Given the description of an element on the screen output the (x, y) to click on. 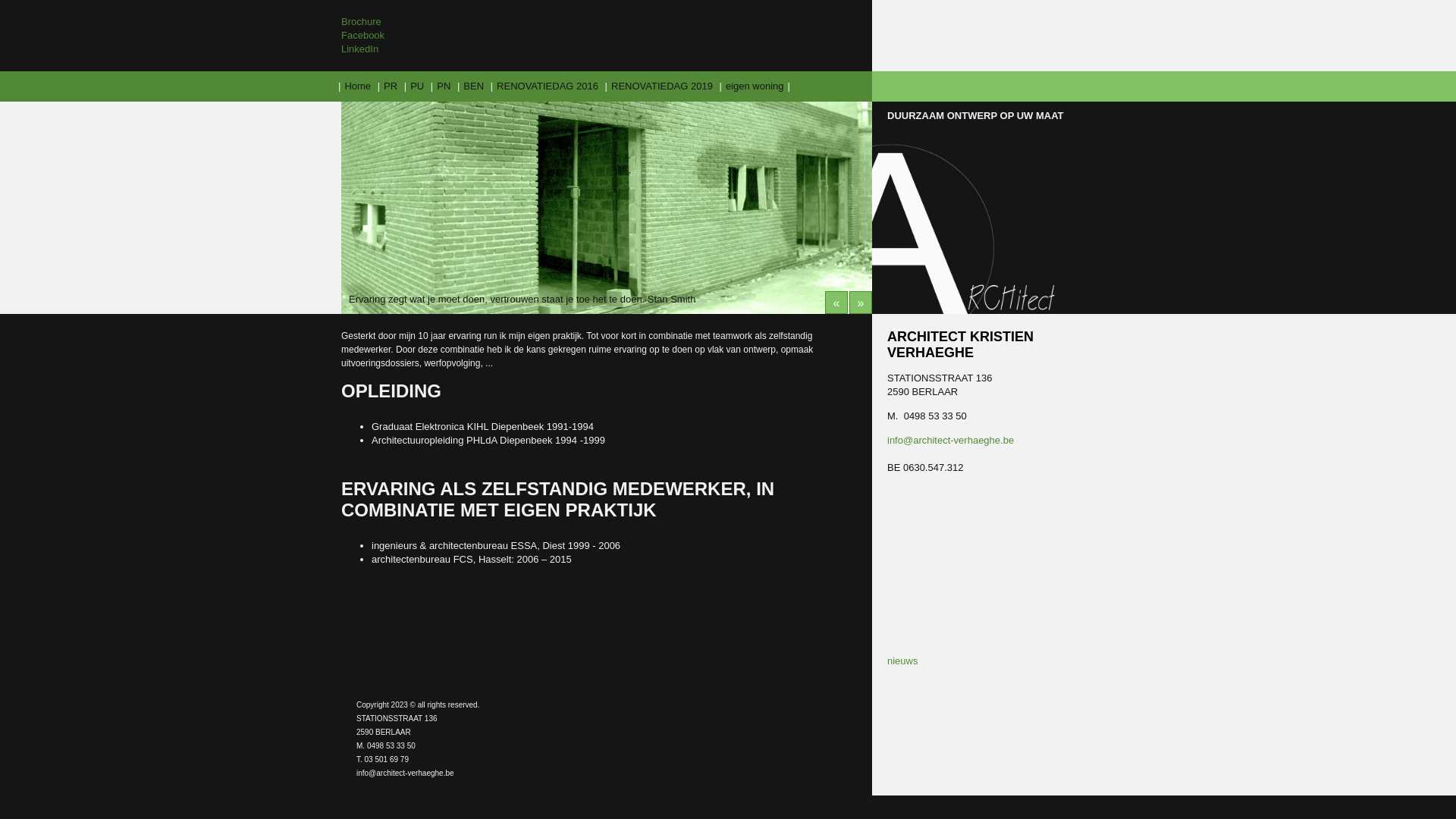
LinkedIn Element type: text (359, 48)
eigen woning Element type: text (754, 86)
PR Element type: text (390, 86)
Facebook Element type: text (362, 34)
info@architect-verhaeghe.be Element type: text (950, 439)
PU Element type: text (416, 86)
BEN Element type: text (473, 86)
Brochure Element type: text (361, 21)
RENOVATIEDAG 2019 Element type: text (661, 86)
nieuws Element type: text (902, 660)
PN Element type: text (443, 86)
Home Element type: text (357, 86)
#caption-6295 Element type: hover (606, 207)
RENOVATIEDAG 2016 Element type: text (547, 86)
